Given the description of an element on the screen output the (x, y) to click on. 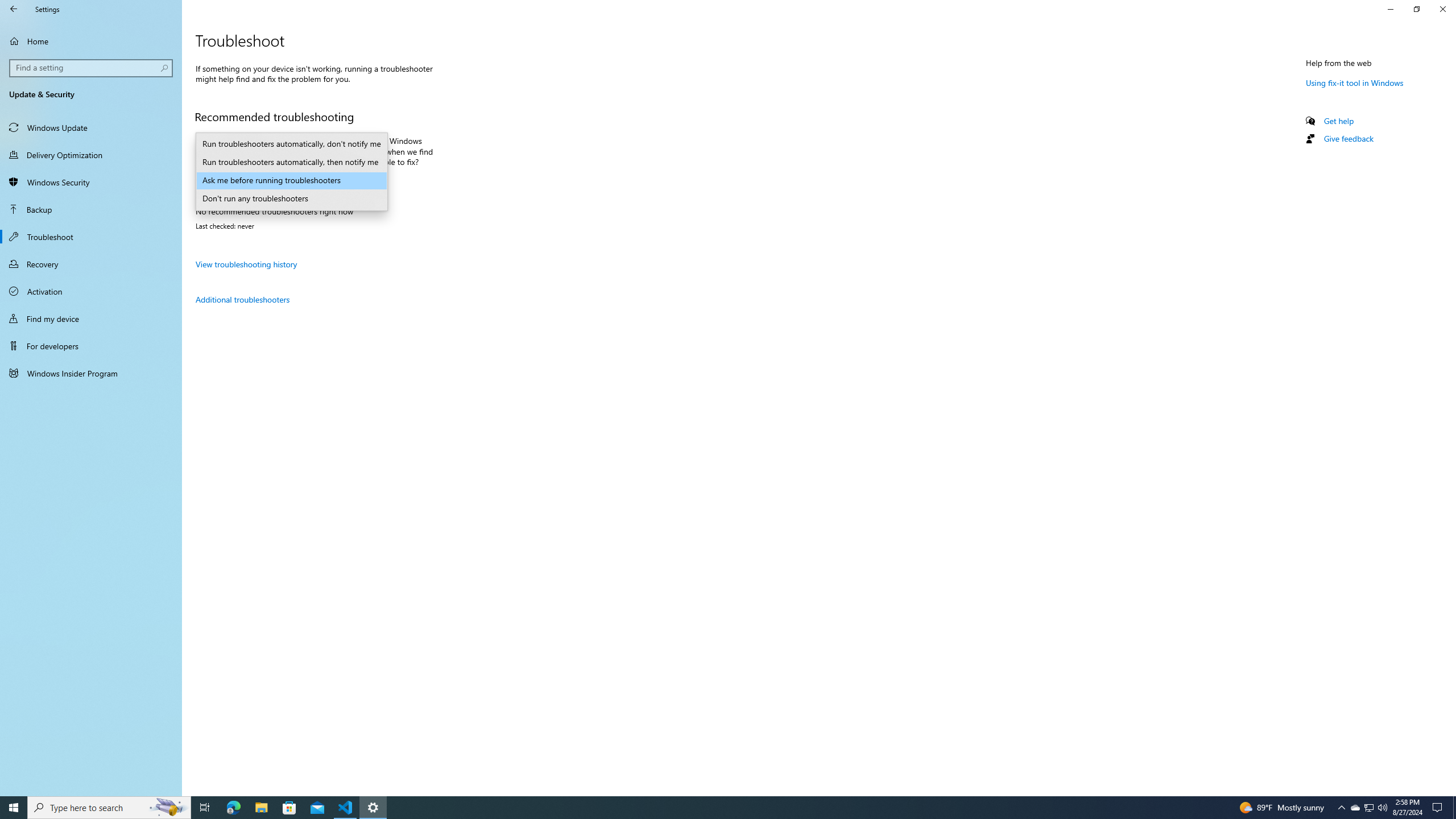
For developers (91, 345)
Windows Security (91, 181)
Using fix-it tool in Windows (1354, 82)
Don't run any troubleshooters (291, 199)
Recovery (91, 263)
Windows Insider Program (91, 372)
